Given the description of an element on the screen output the (x, y) to click on. 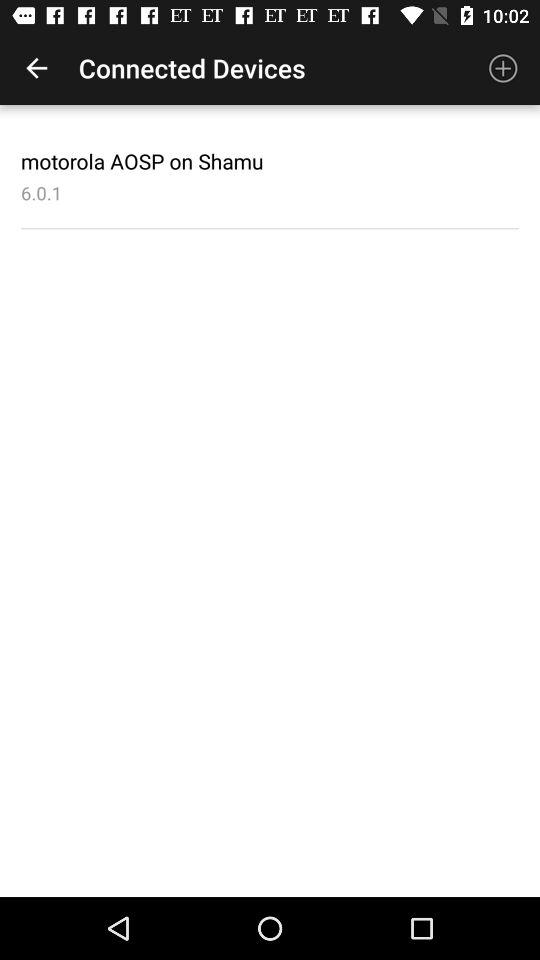
turn on icon at the top right corner (503, 67)
